Given the description of an element on the screen output the (x, y) to click on. 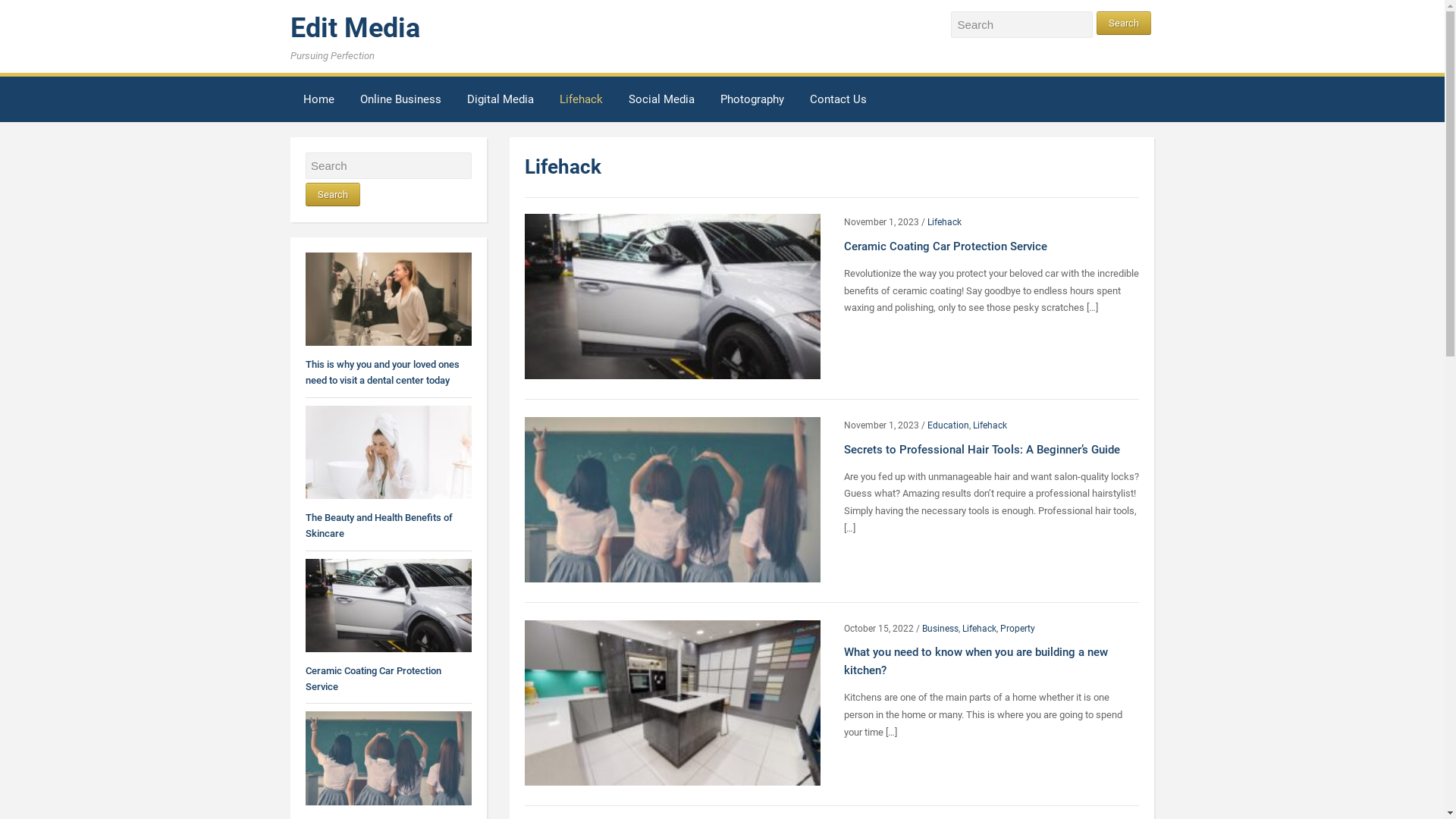
Lifehack Element type: text (581, 101)
Search Element type: text (1123, 22)
What you need to know when you are building a new kitchen? Element type: text (975, 661)
Lifehack Element type: text (989, 425)
Digital Media Element type: text (500, 101)
Photography Element type: text (751, 101)
Home Element type: text (318, 101)
Ceramic Coating Car Protection Service Element type: text (945, 246)
Property Element type: text (1017, 628)
Edit Media Element type: text (354, 27)
Lifehack Element type: text (979, 628)
The Beauty and Health Benefits of Skincare Element type: hover (387, 451)
Search Element type: text (331, 194)
Business Element type: text (940, 628)
Social Media Element type: text (660, 101)
Online Business Element type: text (399, 101)
Ceramic Coating Car Protection Service Element type: hover (671, 295)
Ceramic Coating Car Protection Service Element type: hover (387, 604)
Lifehack Element type: text (944, 221)
Contact Us Element type: text (838, 101)
What you need to know when you are building a new kitchen? Element type: hover (671, 701)
The Beauty and Health Benefits of Skincare Element type: text (377, 525)
Education Element type: text (948, 425)
Ceramic Coating Car Protection Service Element type: text (372, 678)
